Given the description of an element on the screen output the (x, y) to click on. 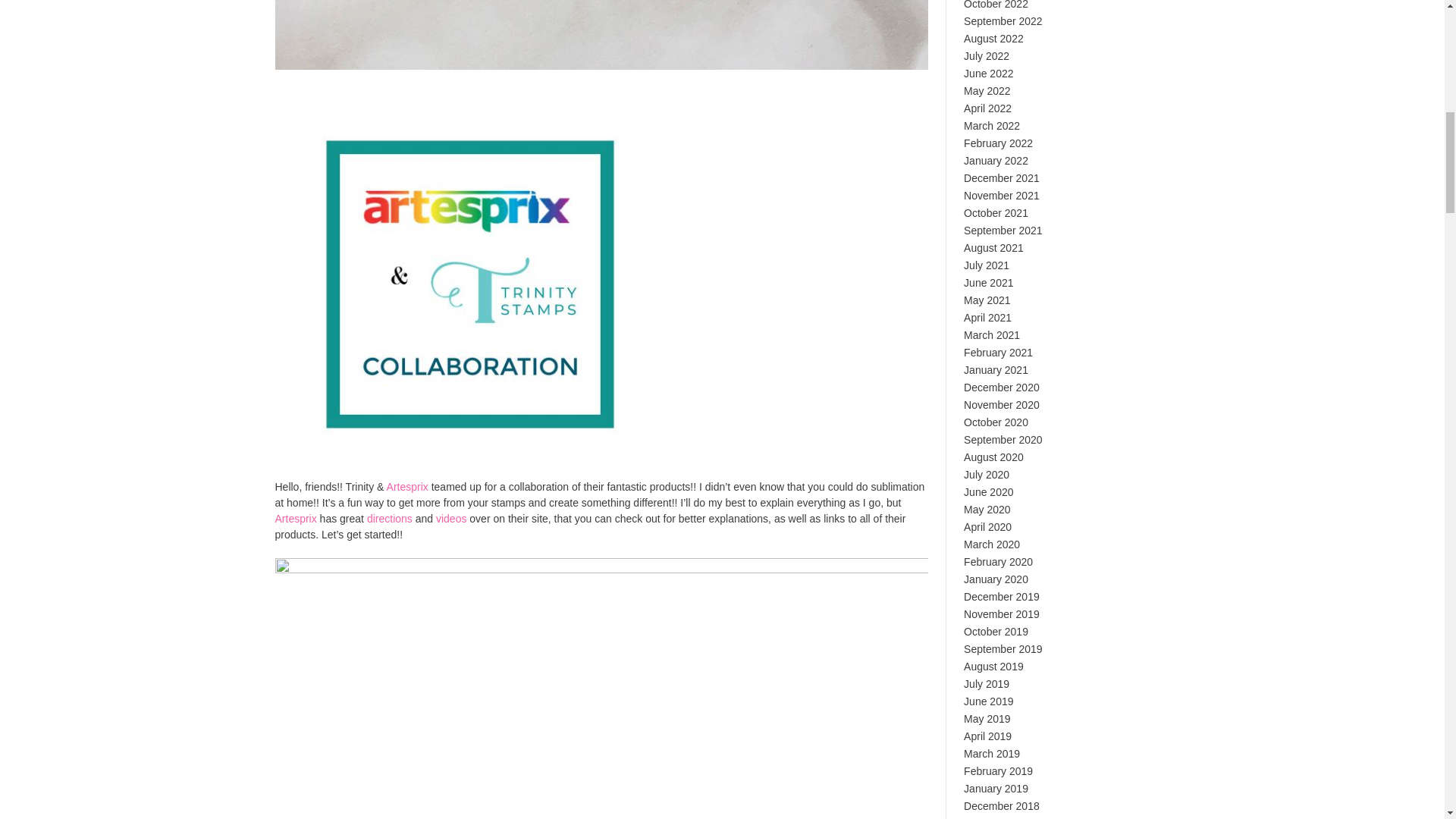
Artesprix (407, 486)
directions (389, 518)
videos (450, 518)
Artesprix (295, 518)
